Given the description of an element on the screen output the (x, y) to click on. 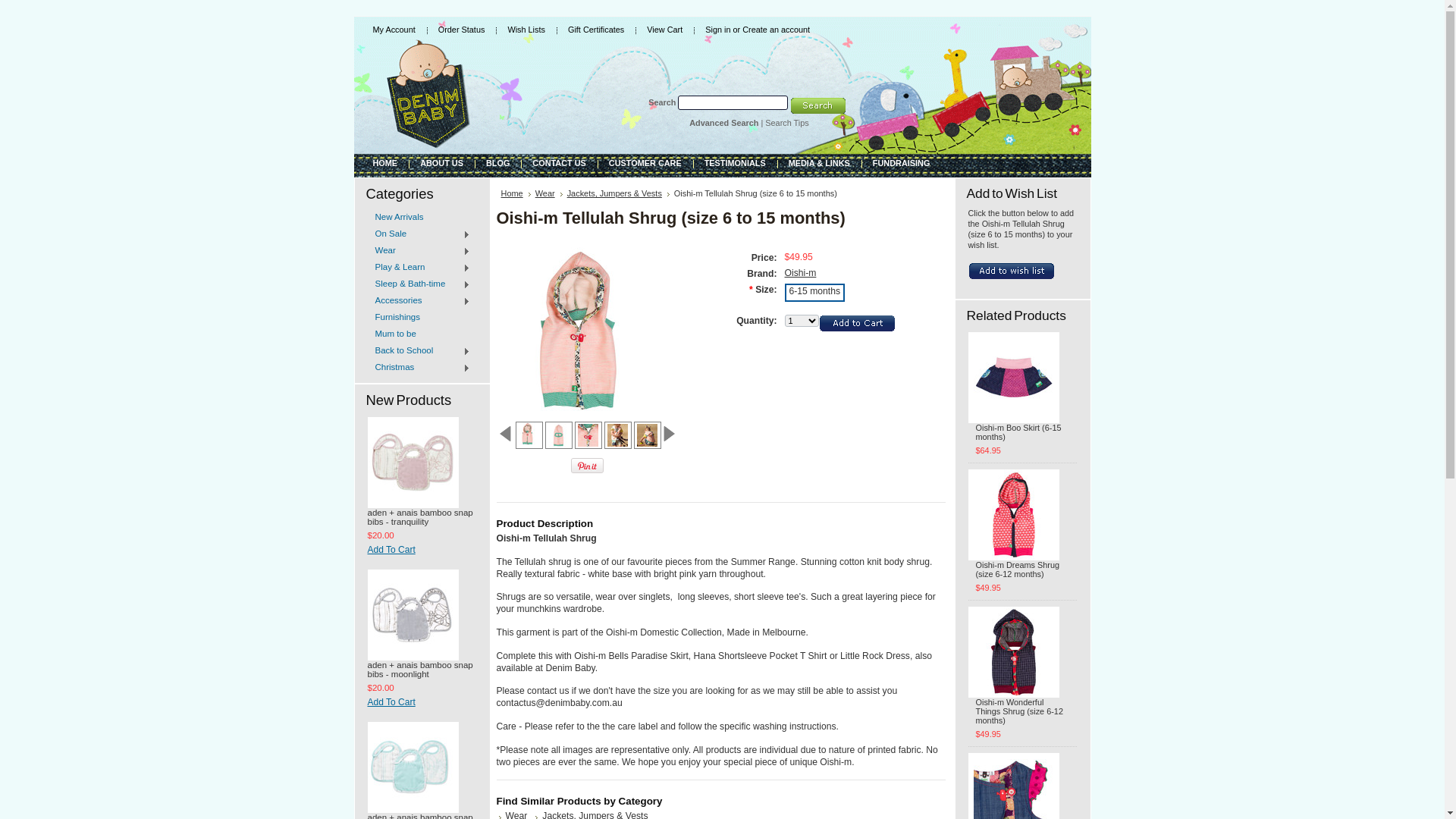
Wish Lists Element type: text (525, 29)
ABOUT US Element type: text (441, 161)
Search Tips Element type: text (786, 122)
aden + anais bamboo snap bibs - tranquility Element type: text (421, 518)
MEDIA & LINKS Element type: text (819, 161)
Oishi-m Tellulah Shrug Element type: hover (647, 434)
BLOG Element type: text (497, 161)
1452 Element type: text (4, 4)
Home Element type: text (515, 192)
Oishi-m Element type: text (799, 272)
Oishi-m Tellulah Shrug Element type: hover (617, 434)
View Cart Element type: text (664, 29)
0 Element type: text (557, 434)
Oishi-m Tellulah Shrug Element type: hover (587, 434)
TESTIMONIALS Element type: text (735, 161)
Create an account Element type: text (775, 29)
CUSTOMER CARE Element type: text (645, 161)
Wear Element type: text (548, 192)
FUNDRAISING Element type: text (901, 161)
Order Status Element type: text (461, 29)
Oishi-m Dreams Shrug (size 6-12 months) Element type: text (1022, 569)
Add To Cart Element type: text (421, 550)
Oishi-m Tellulah Shrug Element type: hover (558, 434)
Oishi-m Tellulah Shrug Element type: hover (527, 433)
aden + anais bamboo snap bibs - moonlight Element type: text (421, 670)
Furnishings Element type: text (421, 316)
0 Element type: text (528, 434)
0 Element type: text (706, 434)
New Arrivals Element type: text (421, 216)
Gift Certificates Element type: text (595, 29)
0 Element type: text (676, 434)
CONTACT US Element type: text (558, 161)
Oishi-m Wonderful Things Shrug (size 6-12 months) Element type: text (1022, 712)
Advanced Search Element type: text (723, 122)
My Account Element type: text (393, 29)
Oishi-m Boo Skirt (6-15 months) Element type: text (1022, 433)
Jackets, Jumpers & Vests Element type: text (618, 192)
Mum to be Element type: text (421, 333)
0 Element type: text (616, 434)
Add To Cart Element type: text (421, 702)
Sign in Element type: text (717, 29)
HOME Element type: text (384, 161)
0 Element type: text (588, 434)
0 Element type: text (647, 434)
